Given the description of an element on the screen output the (x, y) to click on. 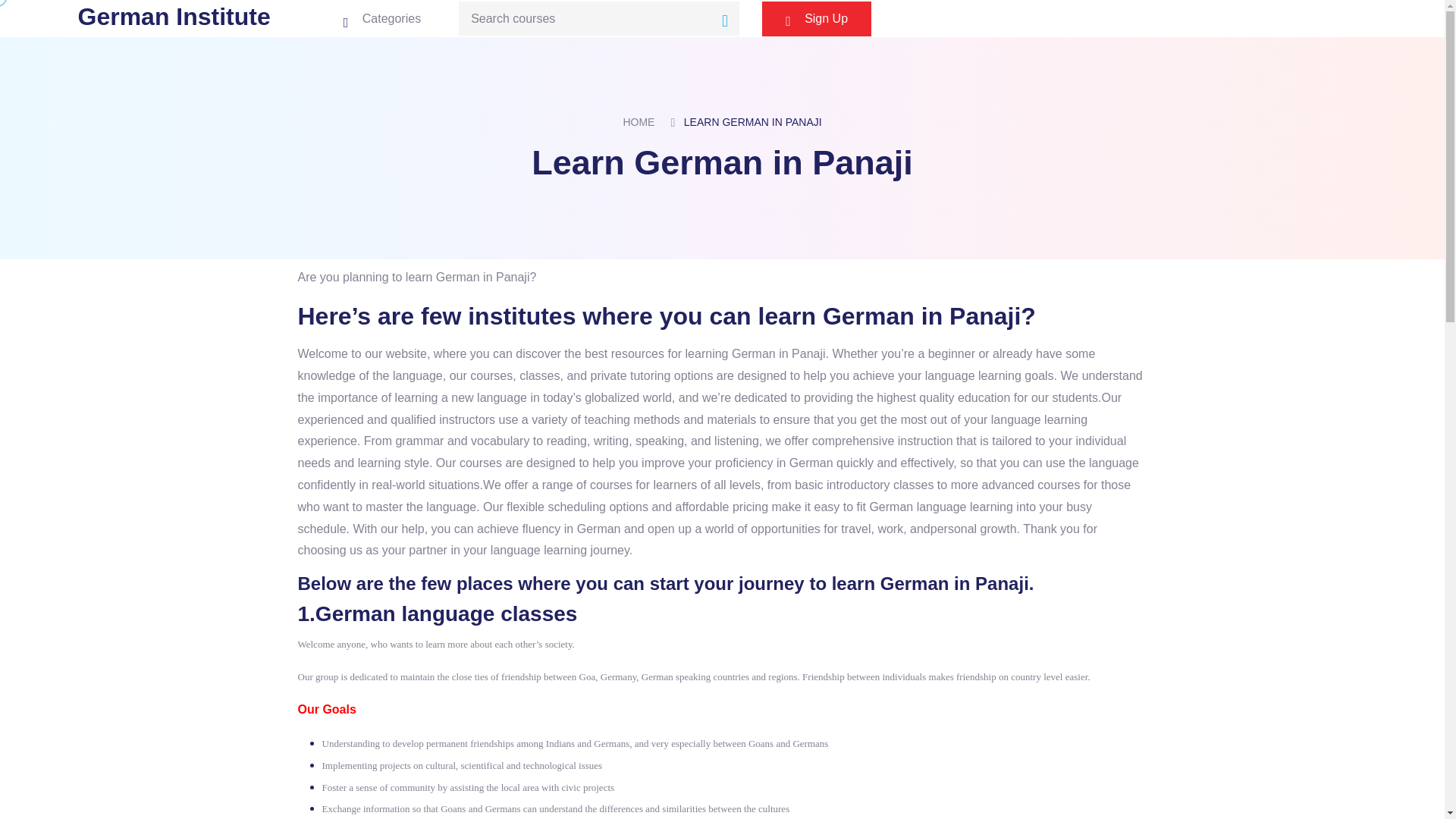
HOME (638, 122)
Sign Up (815, 18)
German Institute (173, 19)
Categories (381, 18)
